Given the description of an element on the screen output the (x, y) to click on. 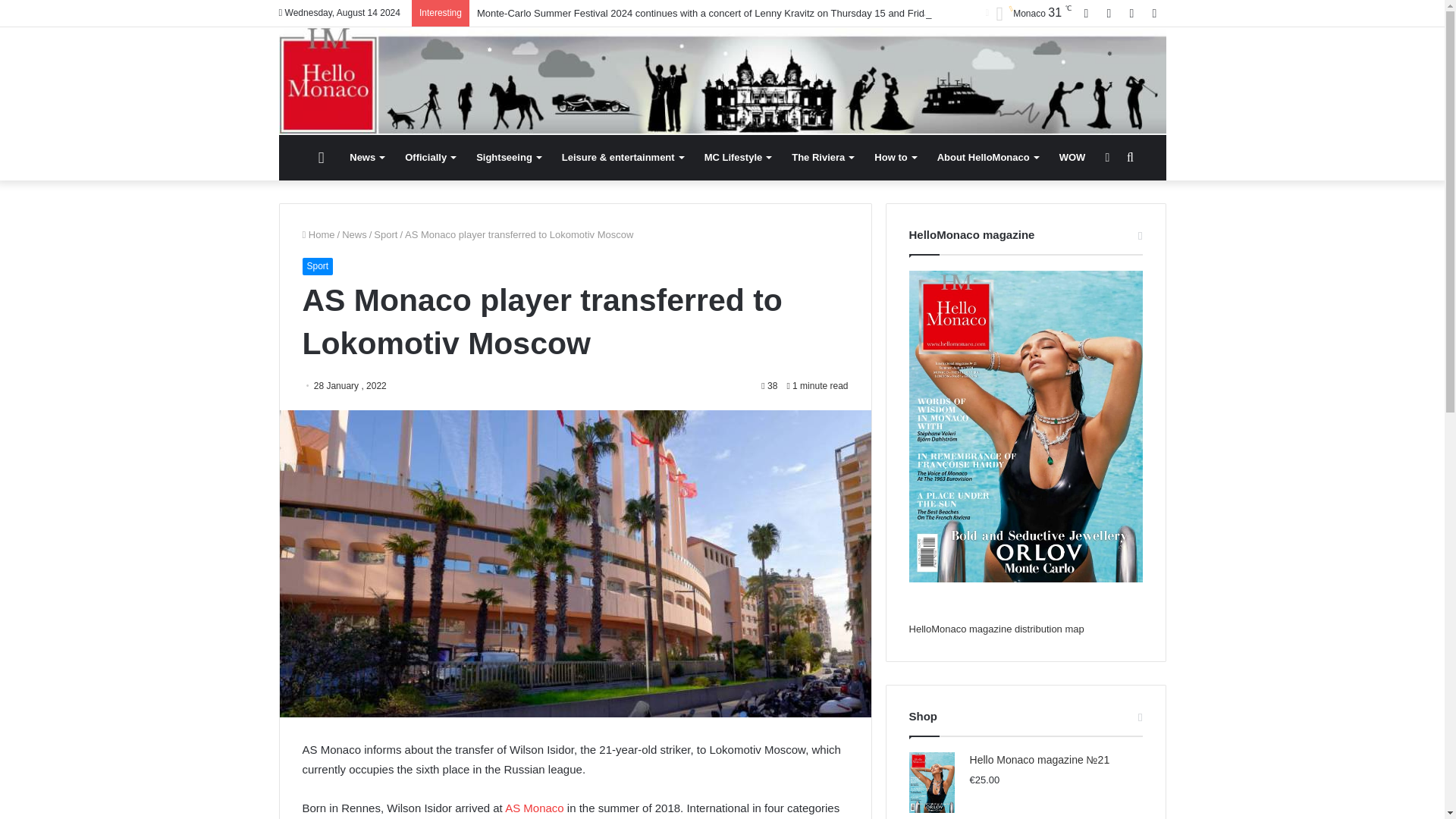
Sightseeing (508, 157)
Officially (429, 157)
HelloMonaco (722, 80)
MC Lifestyle (737, 157)
Scattered Clouds (1027, 13)
News (366, 157)
